Given the description of an element on the screen output the (x, y) to click on. 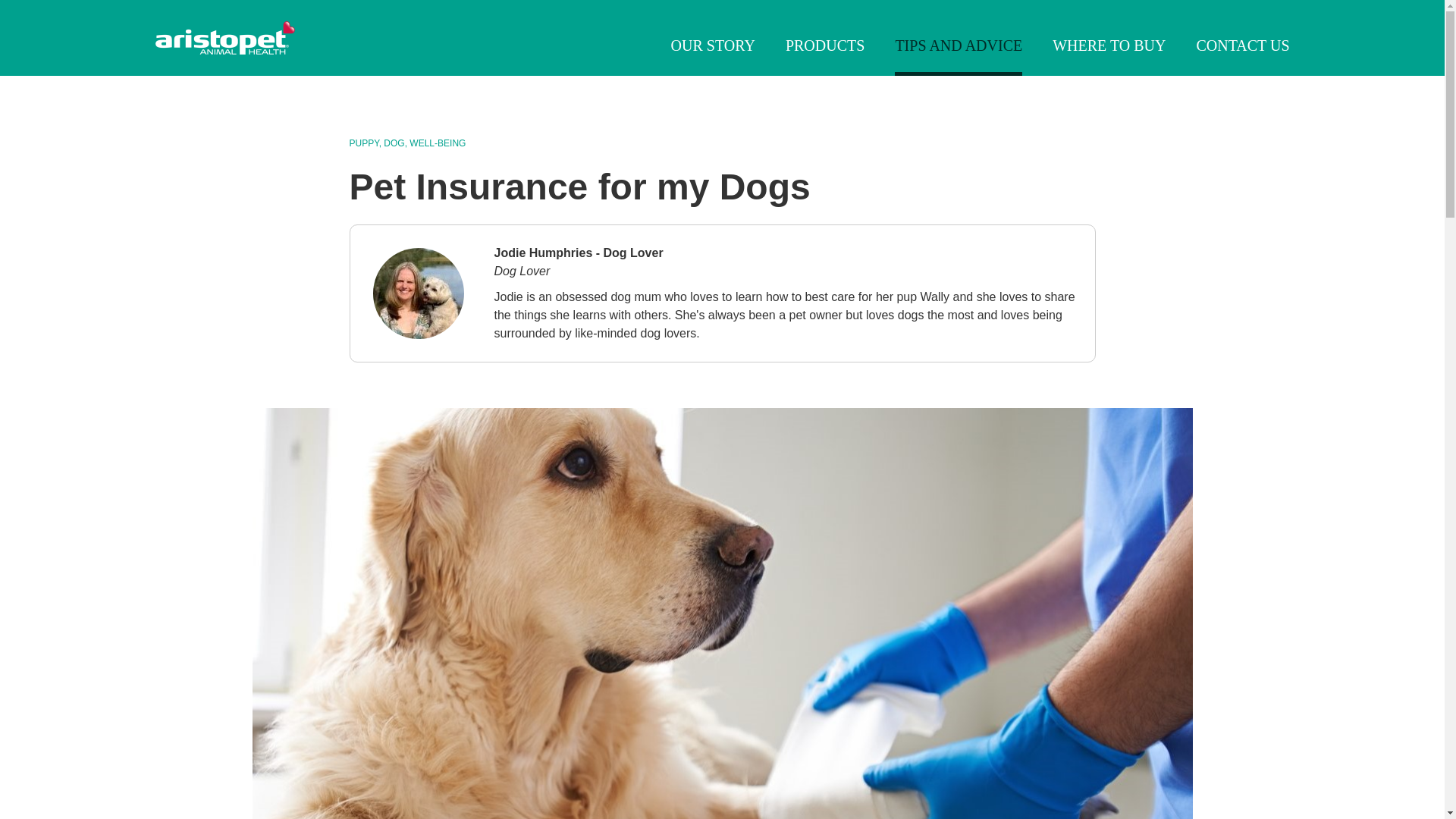
TIPS AND ADVICE (958, 45)
PRODUCTS (825, 45)
Articles by Puppy (364, 143)
WHERE TO BUY (1109, 45)
PUPPY (364, 143)
Articles by Dog (395, 143)
WELL-BEING (437, 143)
Articles by Well-Being (437, 143)
DOG (395, 143)
CONTACT US (1241, 45)
Aristopet Animal Health (224, 37)
OUR STORY (713, 45)
